Given the description of an element on the screen output the (x, y) to click on. 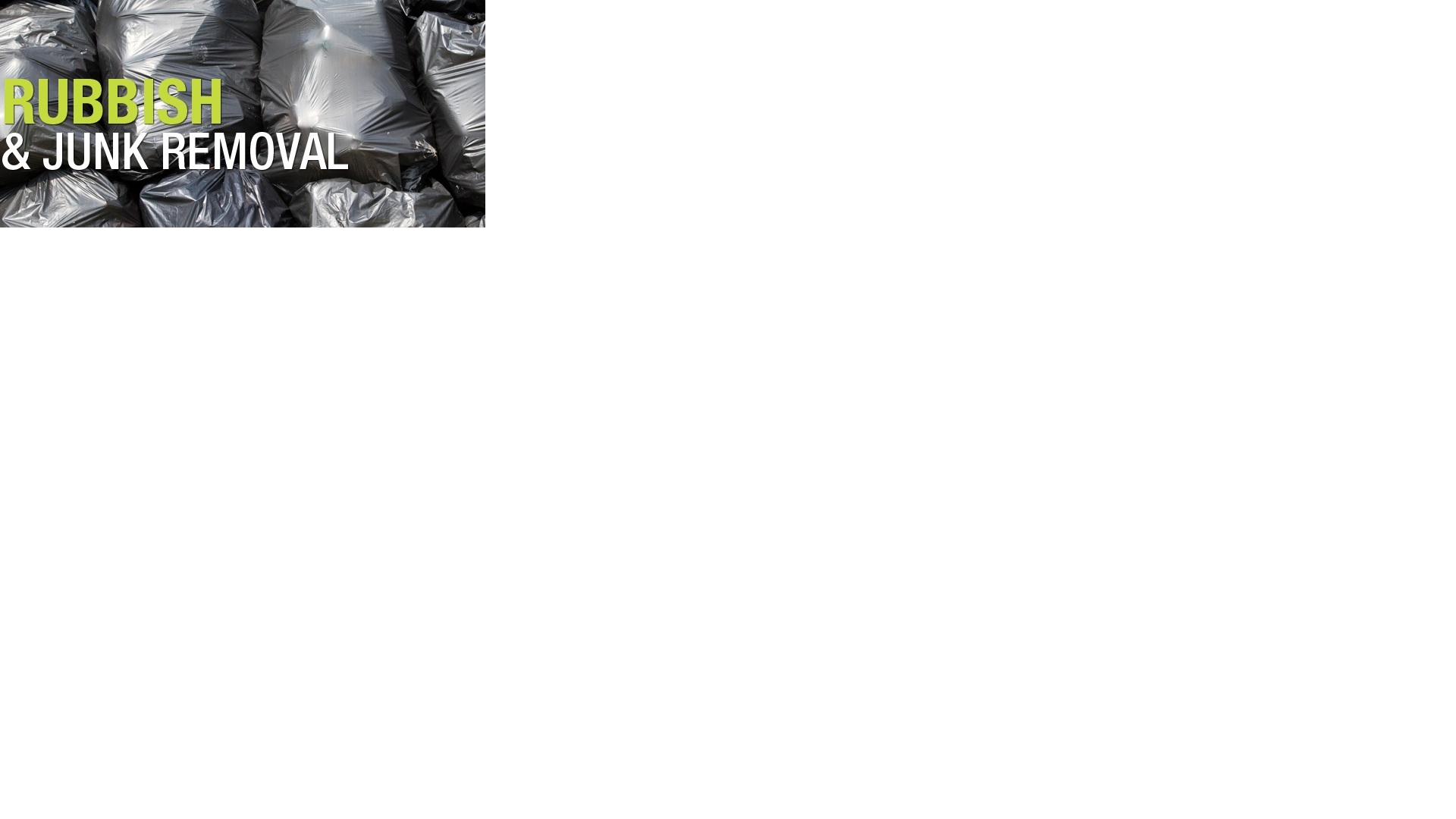
2 Element type: text (668, 203)
3 Element type: text (668, 214)
1 Element type: text (668, 193)
